Given the description of an element on the screen output the (x, y) to click on. 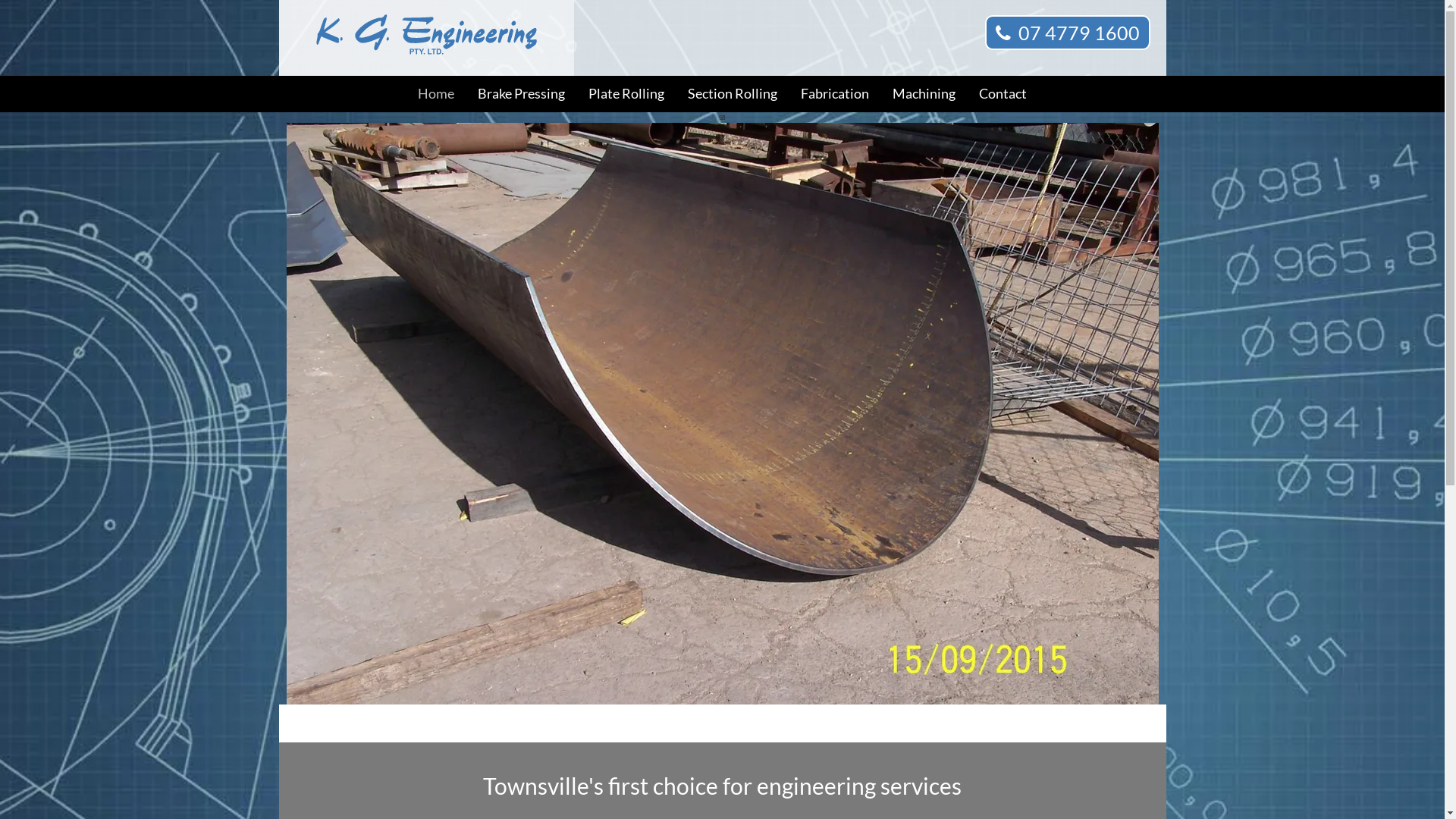
Section Rolling Element type: text (732, 93)
k g engineering pty ltd business logo Element type: hover (425, 37)
Brake Pressing Element type: text (521, 93)
Fabrication Element type: text (834, 93)
Home Element type: text (435, 93)
Machining Element type: text (923, 93)
Plate Rolling Element type: text (625, 93)
Contact Element type: text (1002, 93)
